Given the description of an element on the screen output the (x, y) to click on. 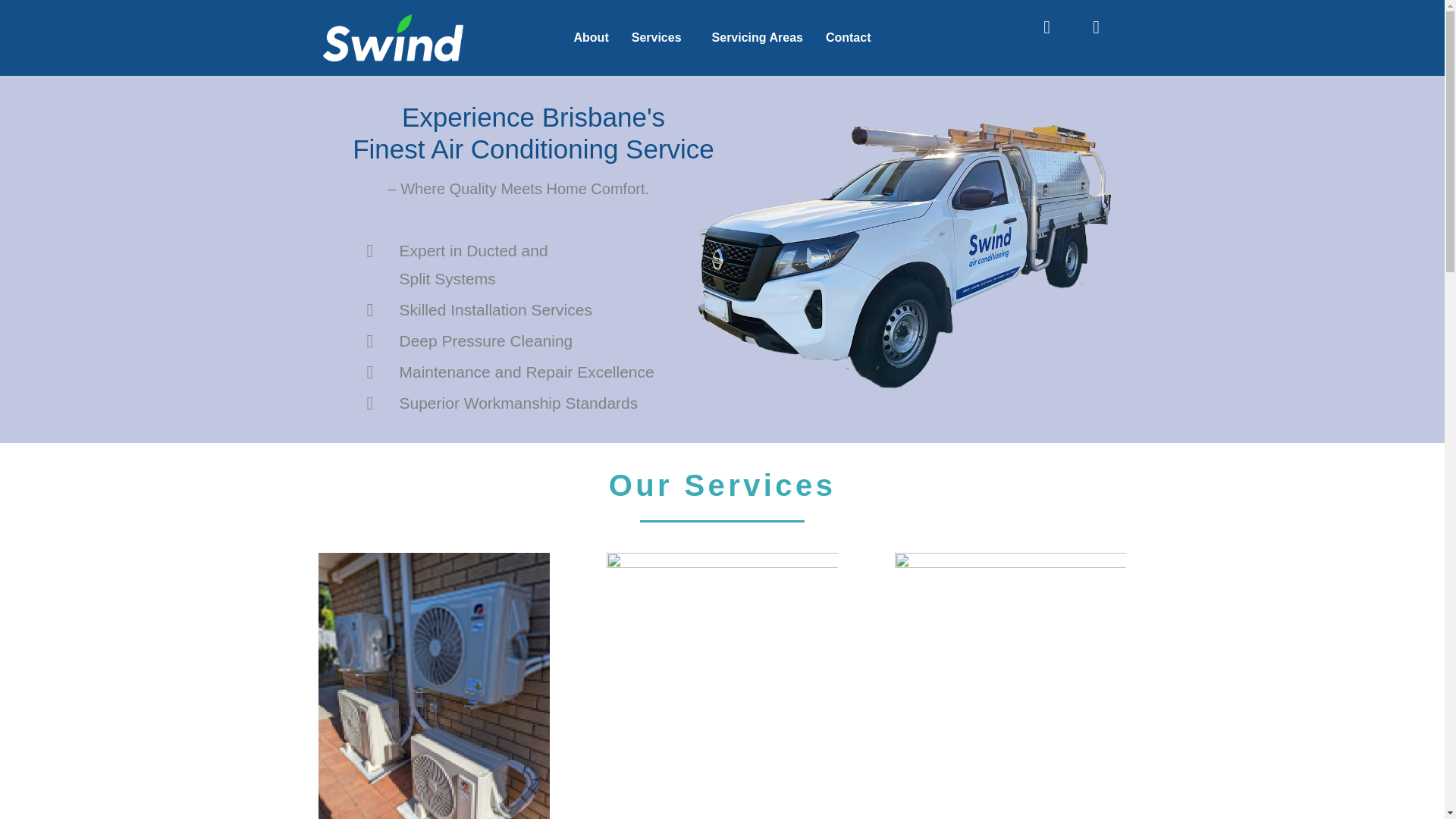
Servicing Areas (756, 37)
Services (660, 37)
Facebook (1056, 36)
About (591, 37)
Instagram (1105, 36)
Contact (847, 37)
